Given the description of an element on the screen output the (x, y) to click on. 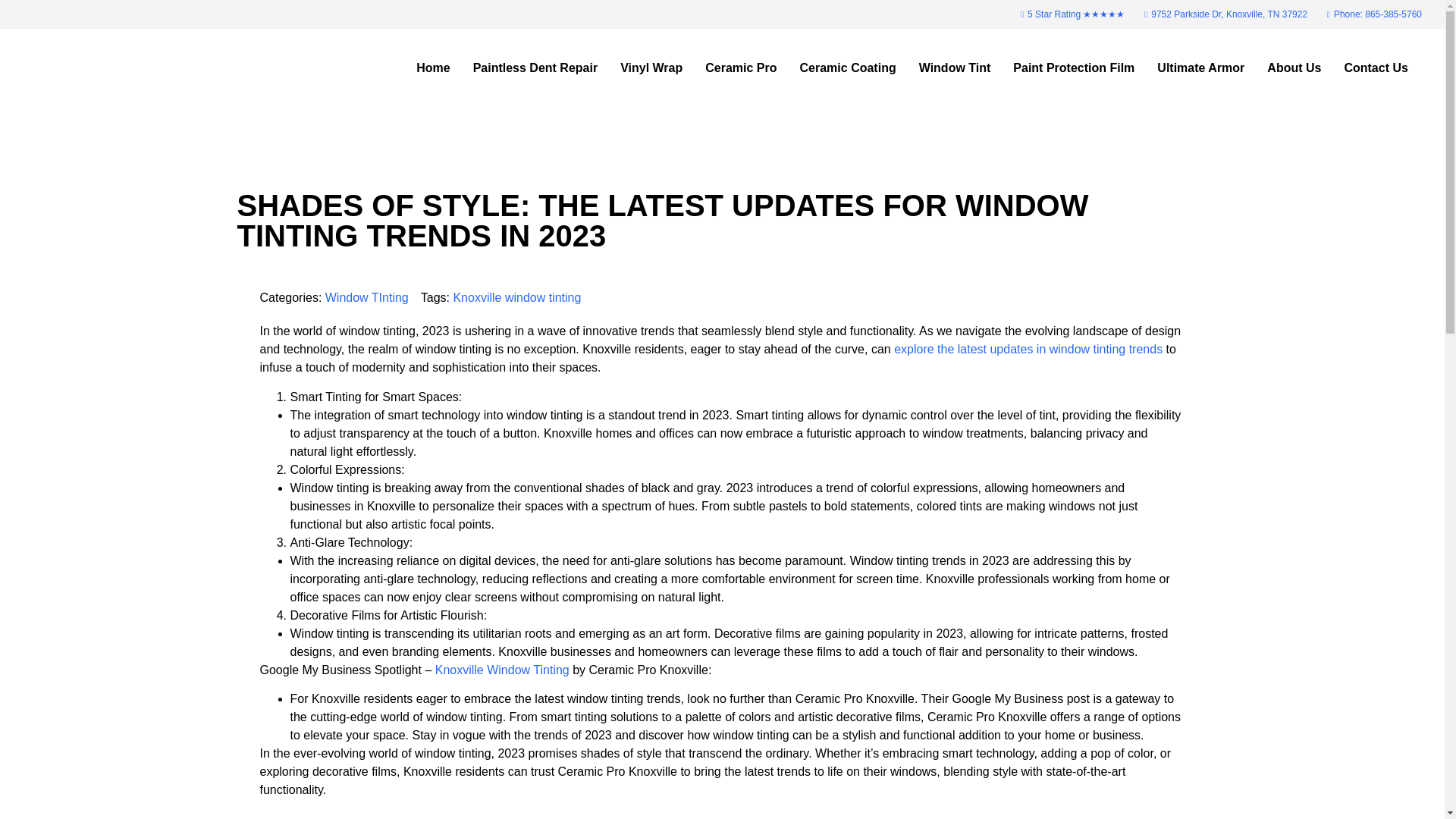
Vinyl Wrap (651, 67)
Phone: 865-385-5760 (1370, 14)
Ultimate Armor (1200, 67)
Knoxville window tinting (516, 297)
Window TInting (366, 297)
explore the latest updates in window tinting trends (1027, 349)
Contact Us (1375, 67)
Ceramic Coating (847, 67)
Window Tint (954, 67)
Paint Protection Film (1073, 67)
About Us (1293, 67)
Paintless Dent Repair (535, 67)
Ceramic Pro (740, 67)
Knoxville Window Tinting (502, 669)
Home (432, 67)
